Given the description of an element on the screen output the (x, y) to click on. 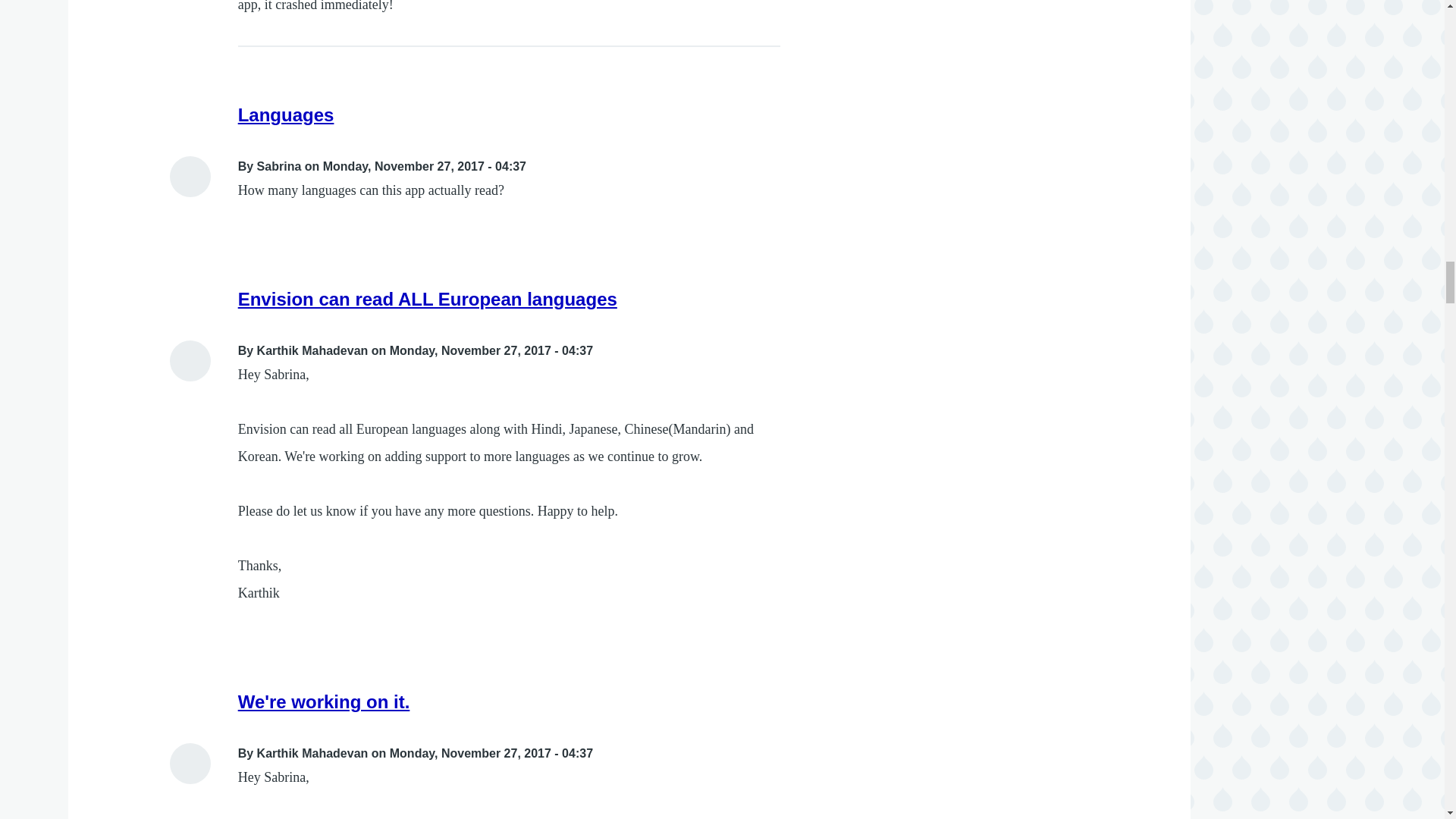
We're working on it. (324, 701)
Envision can read ALL European languages (427, 299)
Languages (286, 114)
